Given the description of an element on the screen output the (x, y) to click on. 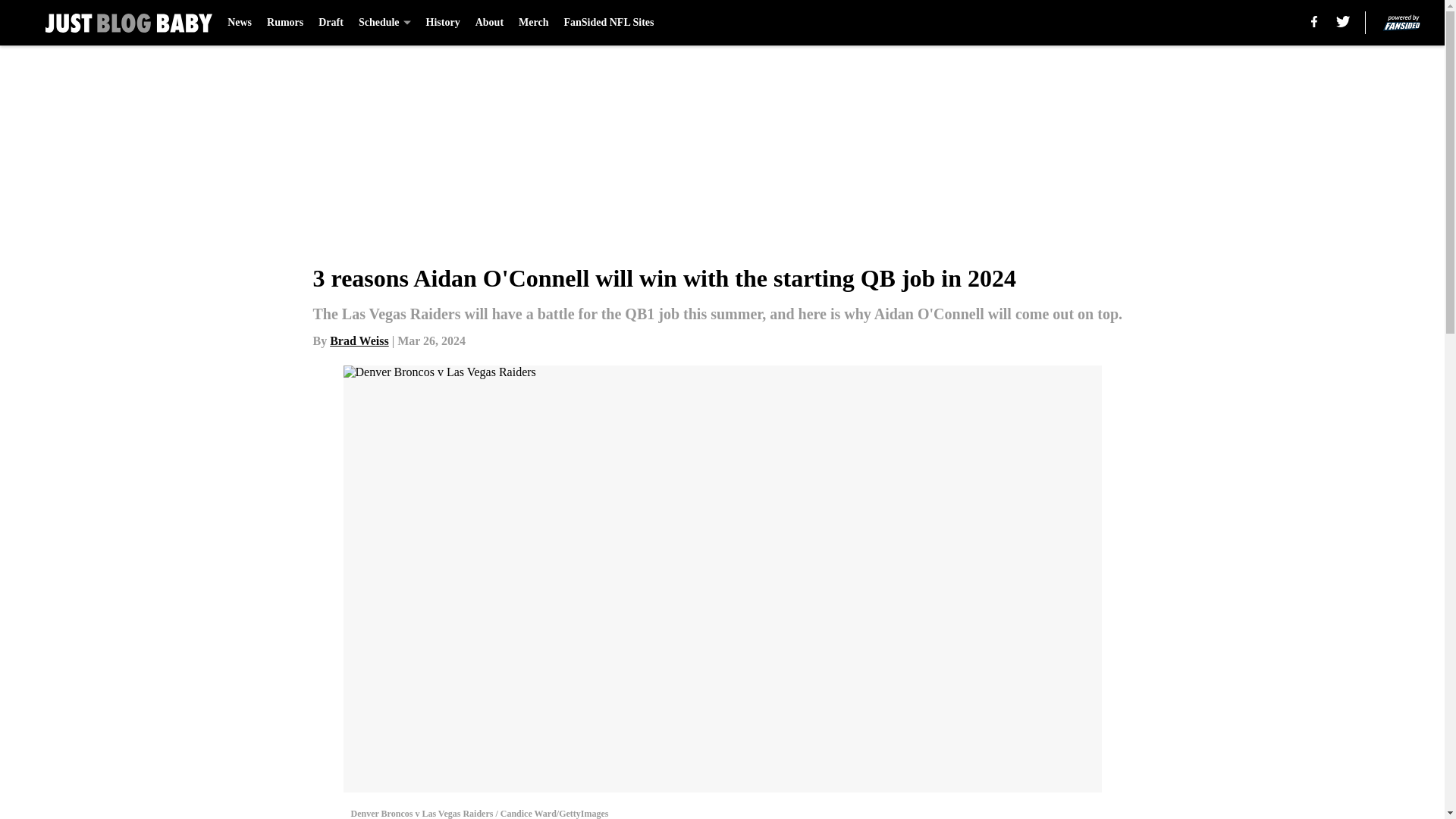
News (239, 22)
Draft (330, 22)
FanSided NFL Sites (608, 22)
History (443, 22)
Rumors (284, 22)
About (489, 22)
Brad Weiss (359, 340)
Merch (533, 22)
